Given the description of an element on the screen output the (x, y) to click on. 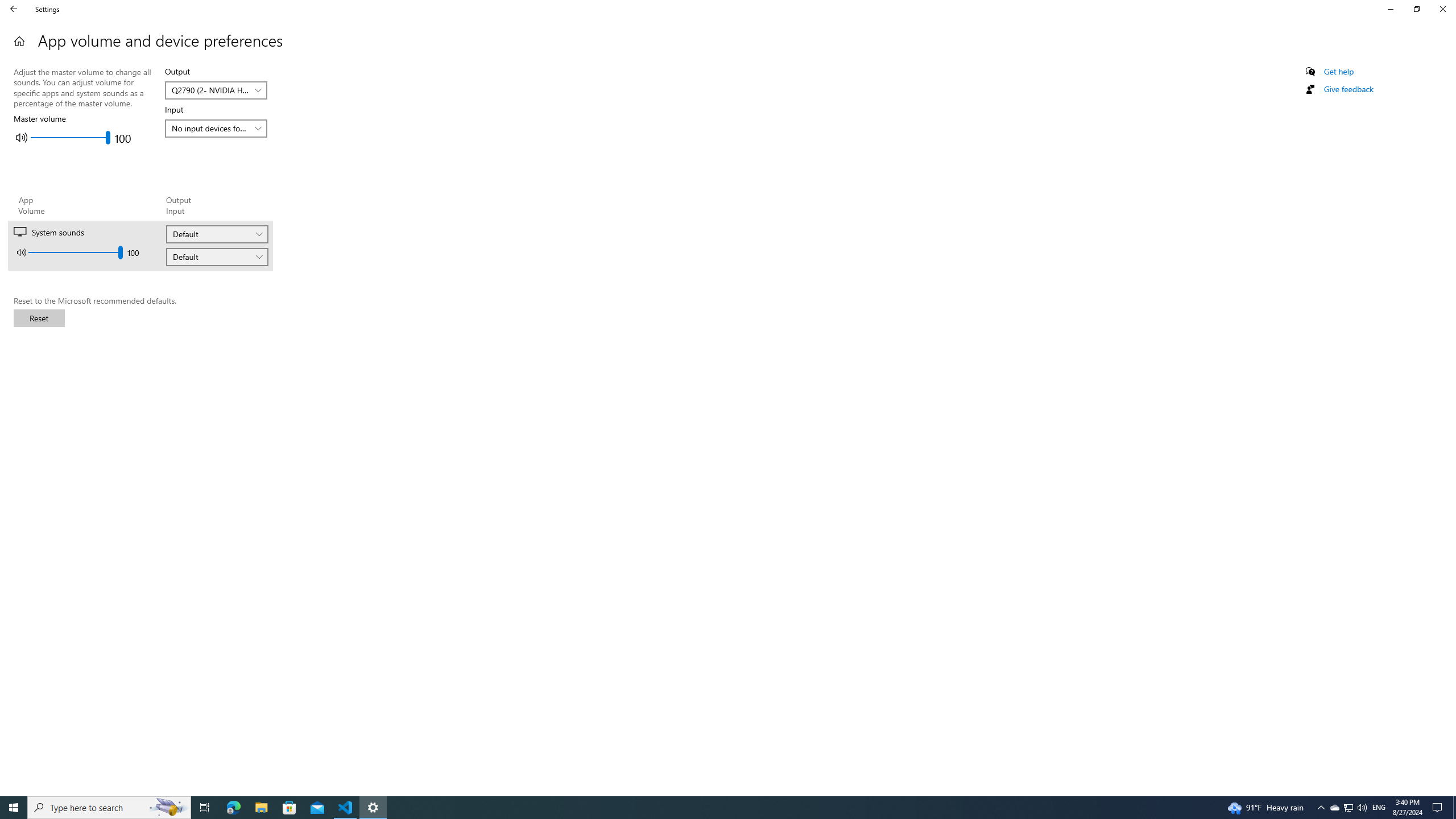
File Explorer (261, 807)
Restore Settings (1416, 9)
Adjust the master output volume (70, 137)
No input devices found (209, 127)
Show desktop (1454, 807)
System sounds (291, 245)
Give feedback (1348, 88)
Back (13, 9)
Q2790: 100% (1361, 807)
Notification Chevron (1347, 807)
Task View (1320, 807)
Q2790 (2- NVIDIA High Definition Audio) (204, 807)
Default (209, 89)
